Given the description of an element on the screen output the (x, y) to click on. 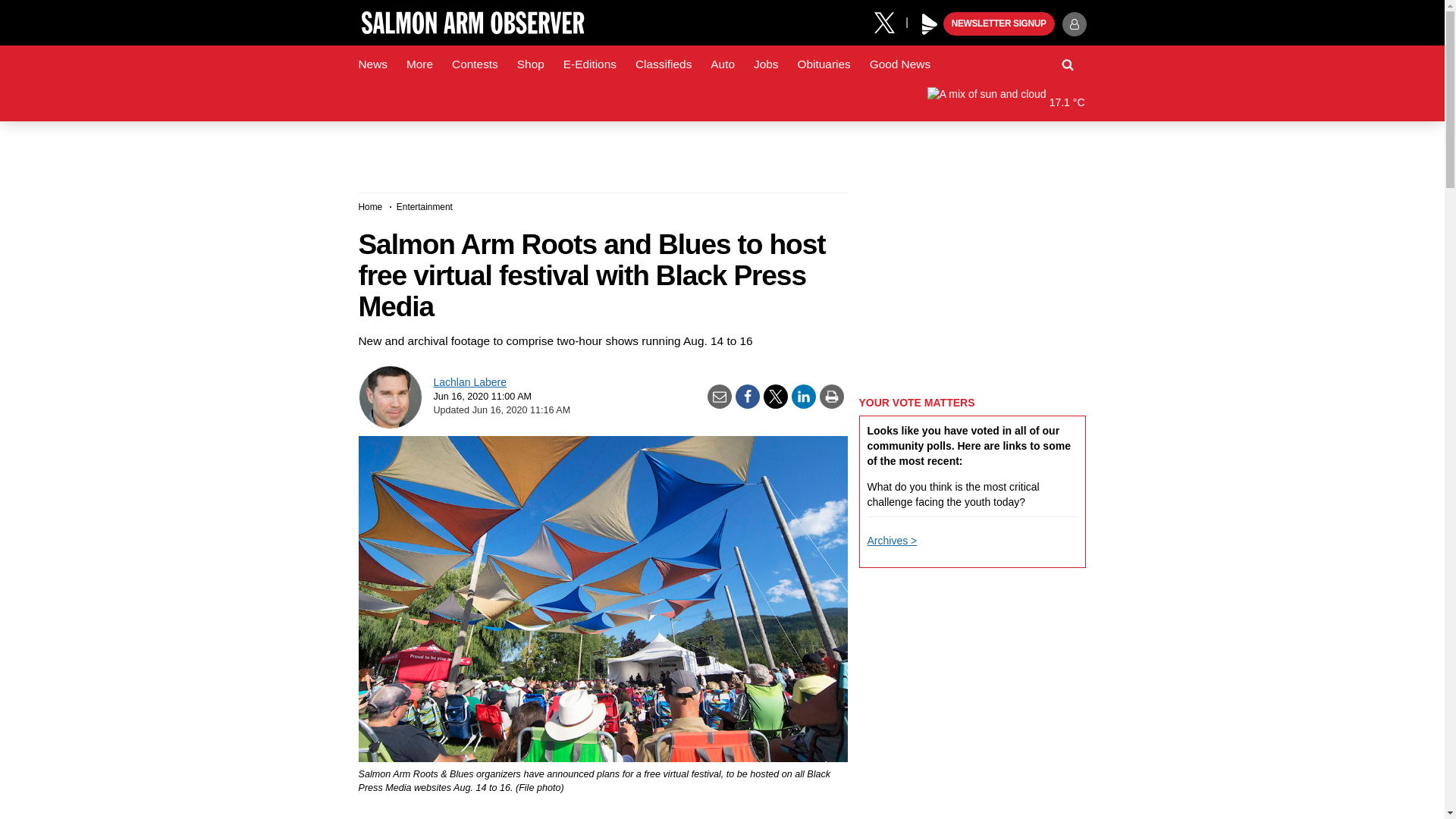
X (889, 21)
News (372, 64)
NEWSLETTER SIGNUP (998, 24)
Black Press Media (929, 24)
Play (929, 24)
